Given the description of an element on the screen output the (x, y) to click on. 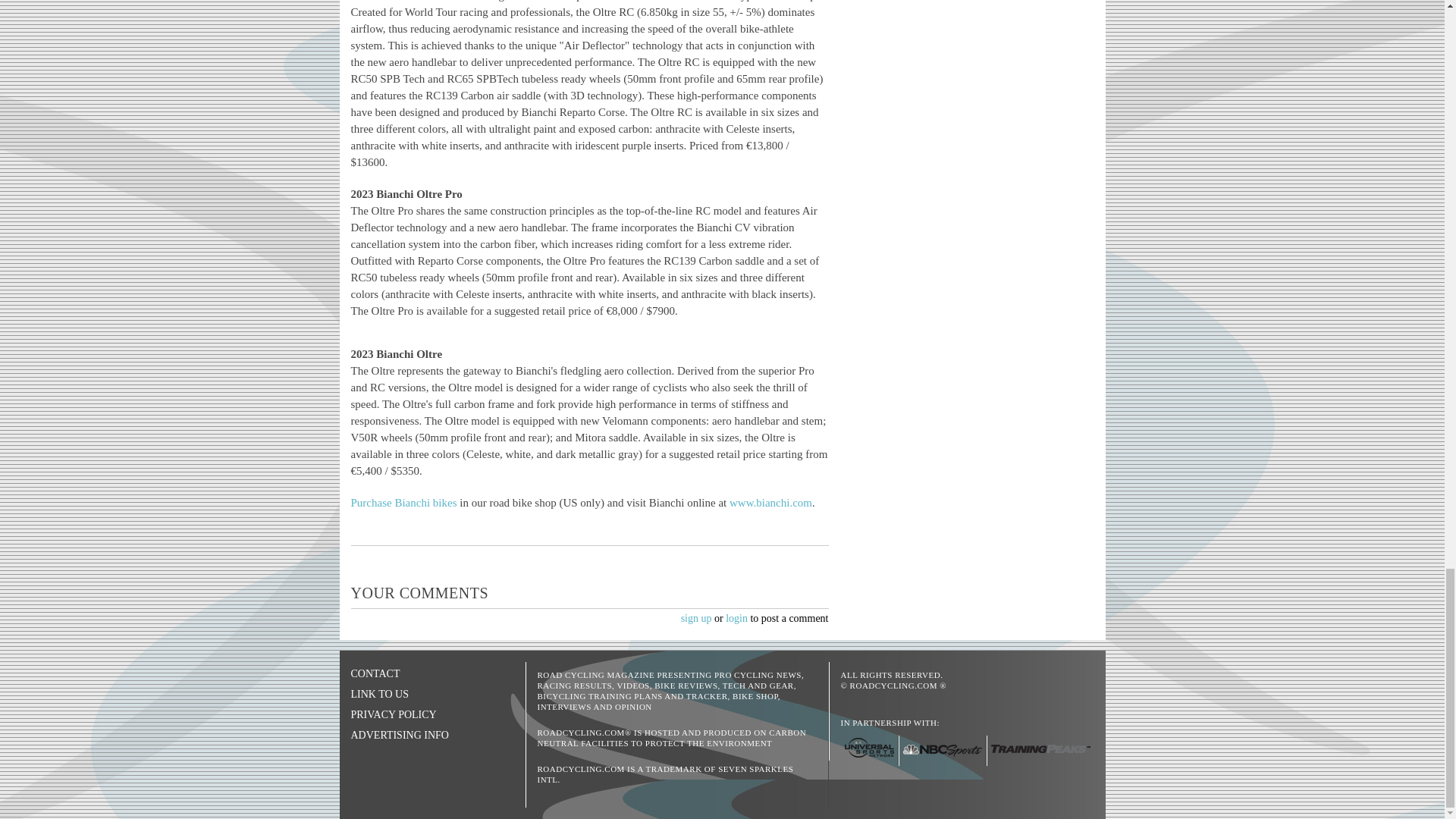
Purchase Bianchi bikes (403, 502)
login (736, 618)
sign up (696, 618)
www.bianchi.com (770, 502)
